Given the description of an element on the screen output the (x, y) to click on. 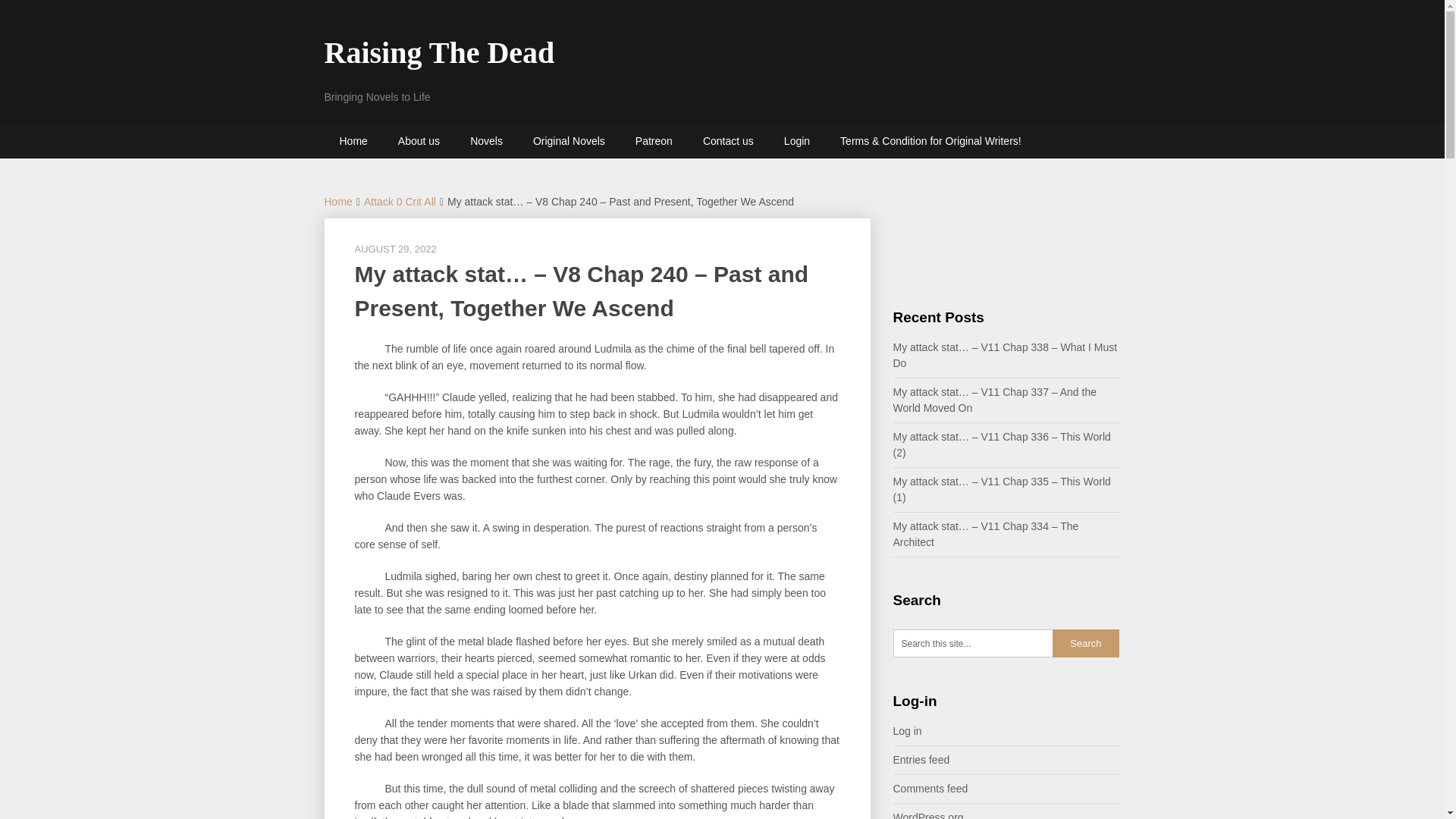
Original Novels (569, 141)
Patreon (653, 141)
Home (353, 141)
Search (1085, 643)
About us (418, 141)
Search (1085, 643)
Raising The Dead (439, 52)
Novels (486, 141)
Contact us (727, 141)
